Given the description of an element on the screen output the (x, y) to click on. 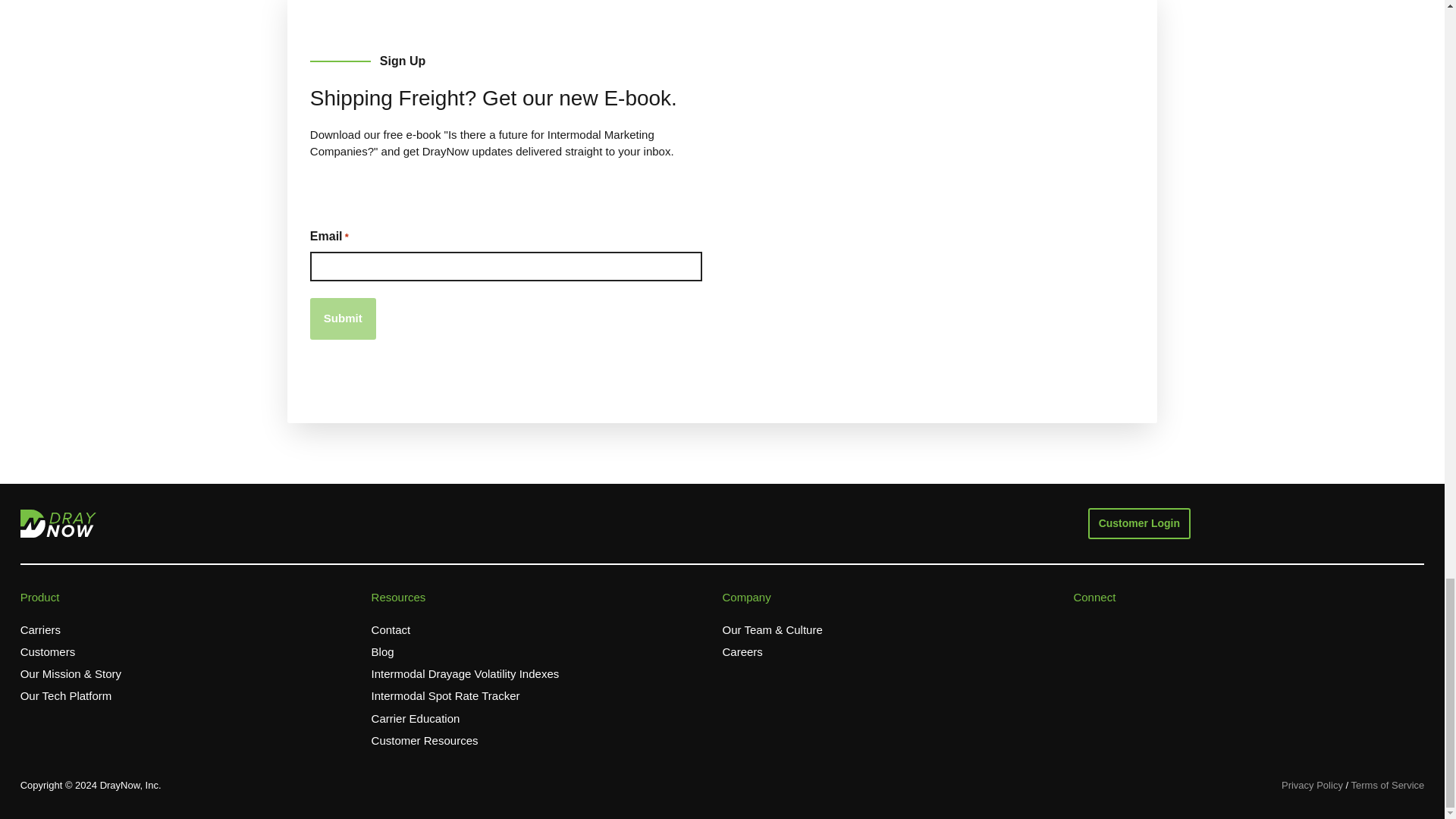
Our Tech Platform (66, 696)
Intermodal Drayage Volatility Indexes (465, 674)
Intermodal Spot Rate Tracker (445, 696)
facebook logo (1080, 626)
Customers (47, 651)
instagram logo (1142, 626)
Submit (342, 318)
twitter logo (1111, 626)
Blog (382, 651)
Customer Login (1139, 522)
Carriers (40, 630)
Contact (390, 630)
linkedin logo (1171, 626)
